Given the description of an element on the screen output the (x, y) to click on. 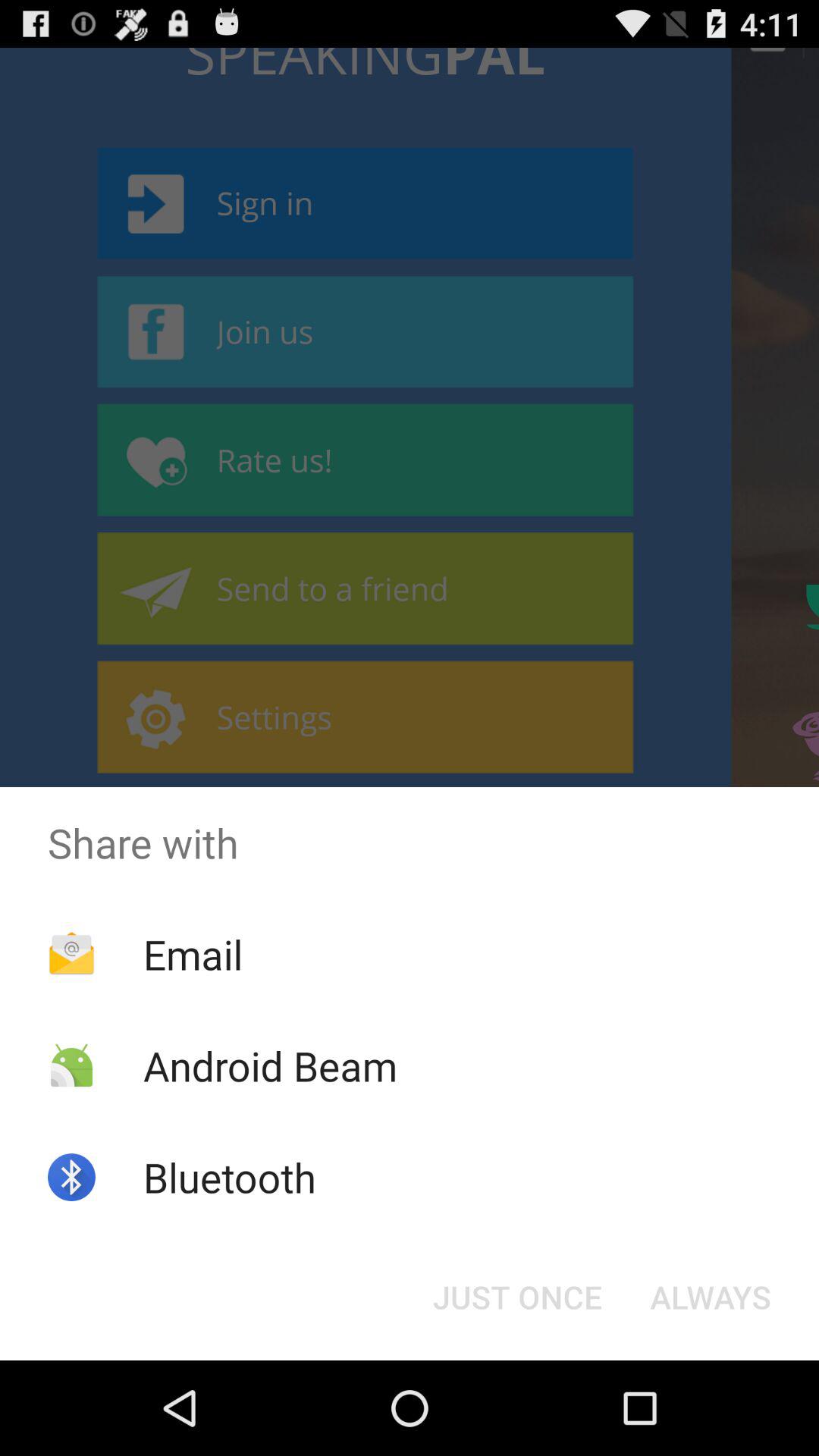
scroll until email app (192, 953)
